Given the description of an element on the screen output the (x, y) to click on. 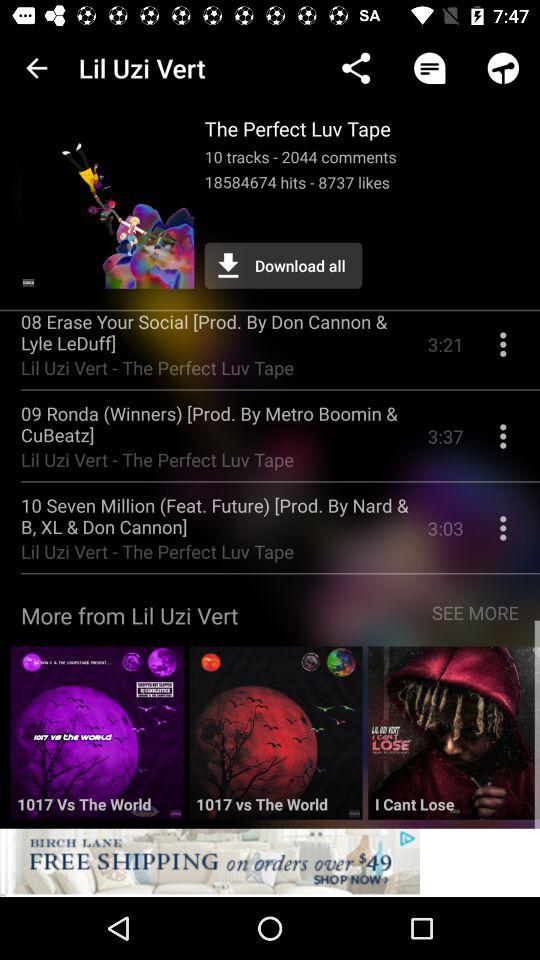
open additional options for track (503, 535)
